Given the description of an element on the screen output the (x, y) to click on. 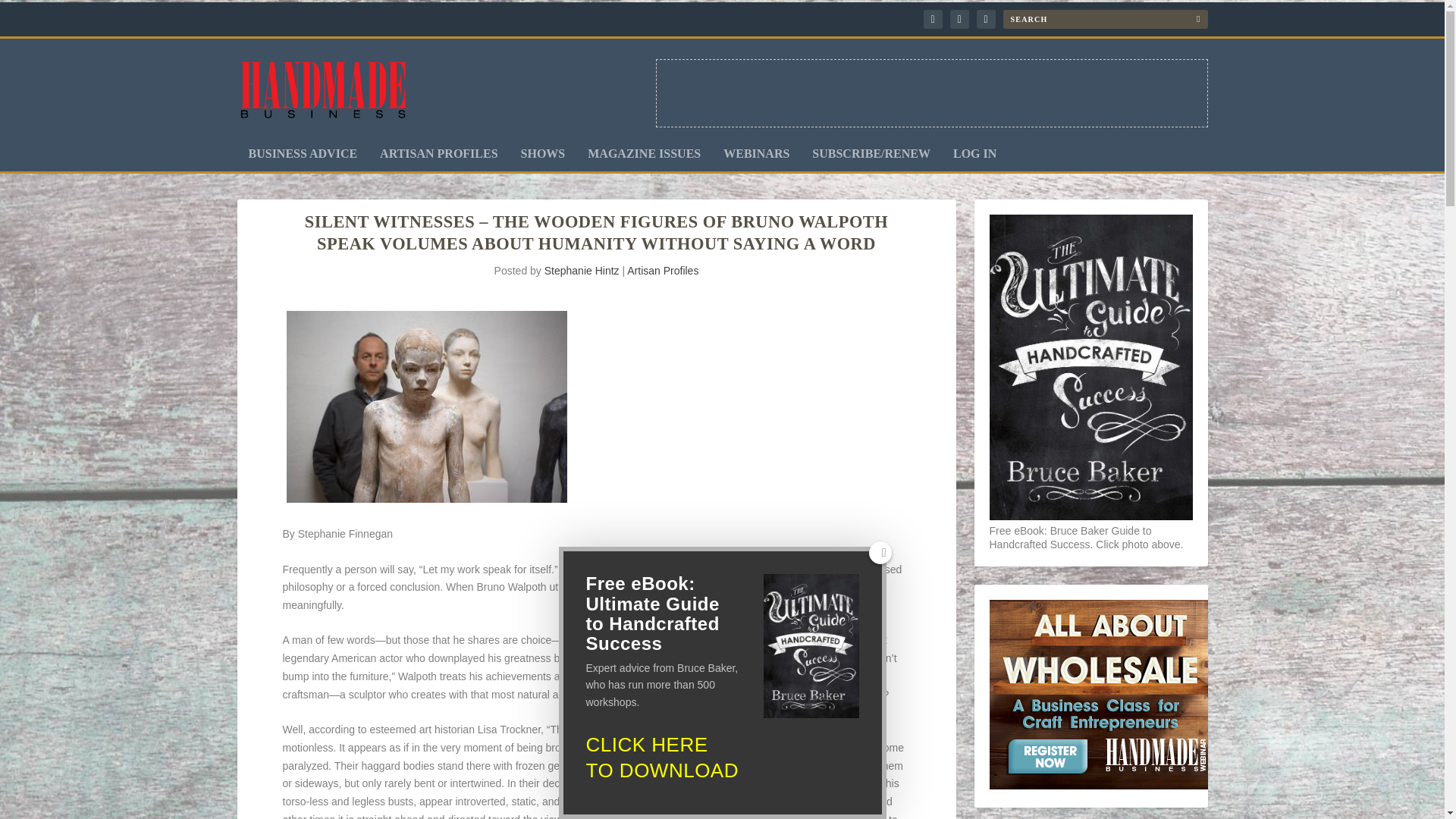
ARTISAN PROFILES (438, 159)
Artisan Profiles (662, 270)
MAGAZINE ISSUES (644, 159)
BUSINESS ADVICE (303, 159)
WEBINARS (756, 159)
Search for: (1105, 18)
Stephanie Hintz (582, 270)
SHOWS (543, 159)
Posts by Stephanie Hintz (582, 270)
LOG IN (974, 159)
